Given the description of an element on the screen output the (x, y) to click on. 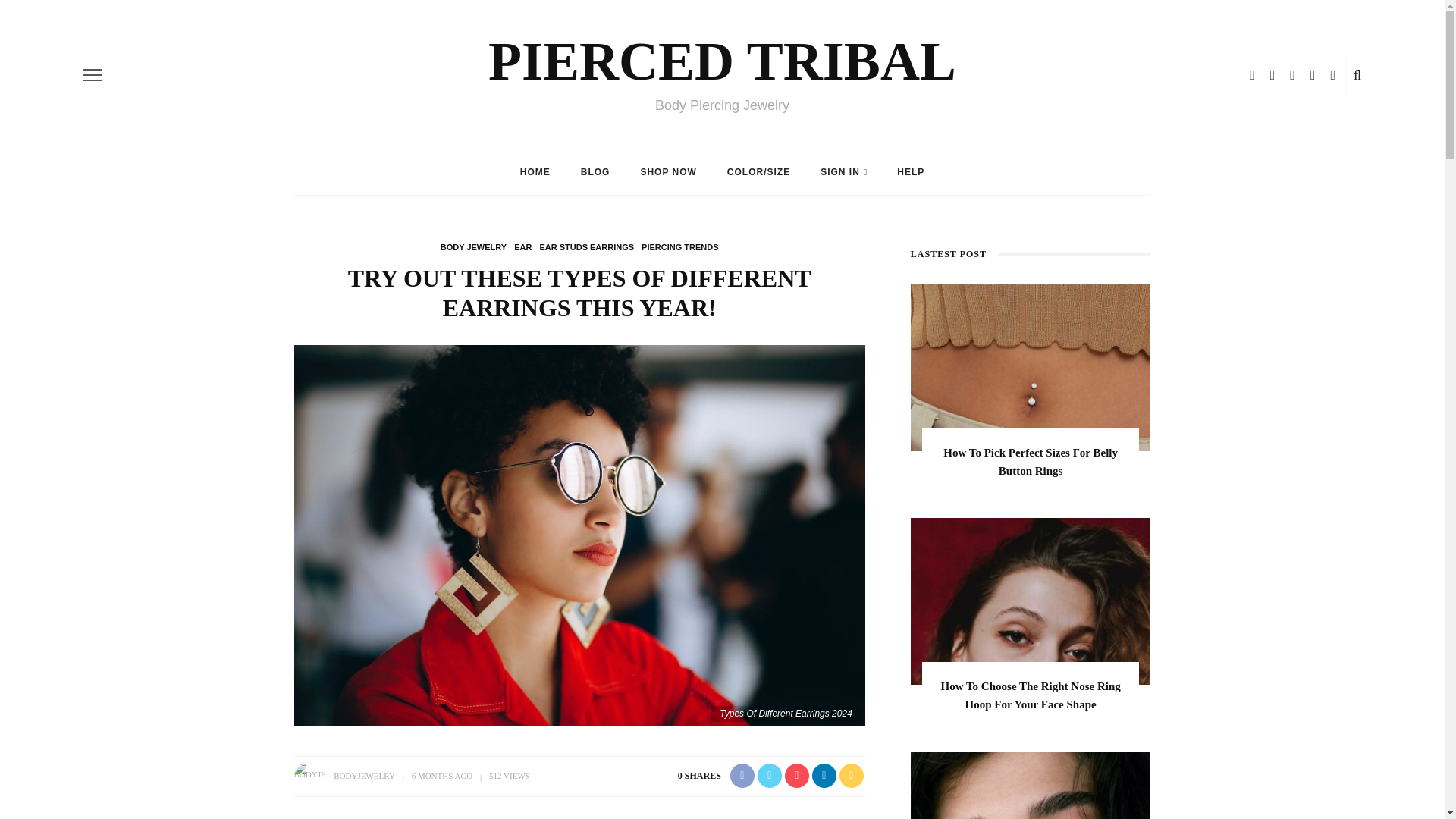
How To Pick Perfect Sizes For Belly Button Rings (1030, 461)
off canvas button (91, 75)
How To Choose The Right Nose Ring Hoop For Your Face Shape (1030, 695)
BLOG (596, 171)
EAR (522, 246)
SIGN IN (843, 171)
EAR STUDS EARRINGS (585, 246)
SHOP NOW (667, 171)
PIERCING TRENDS (679, 246)
PIERCED TRIBAL (721, 61)
BODY JEWELRY (473, 246)
How To Choose The Right Nose Ring Hoop For Your Face Shape (1031, 600)
HOME (535, 171)
Try Out These Types Of Different Earrings This Year! (579, 534)
How To Pick Perfect Sizes For Belly Button Rings (1031, 367)
